Given the description of an element on the screen output the (x, y) to click on. 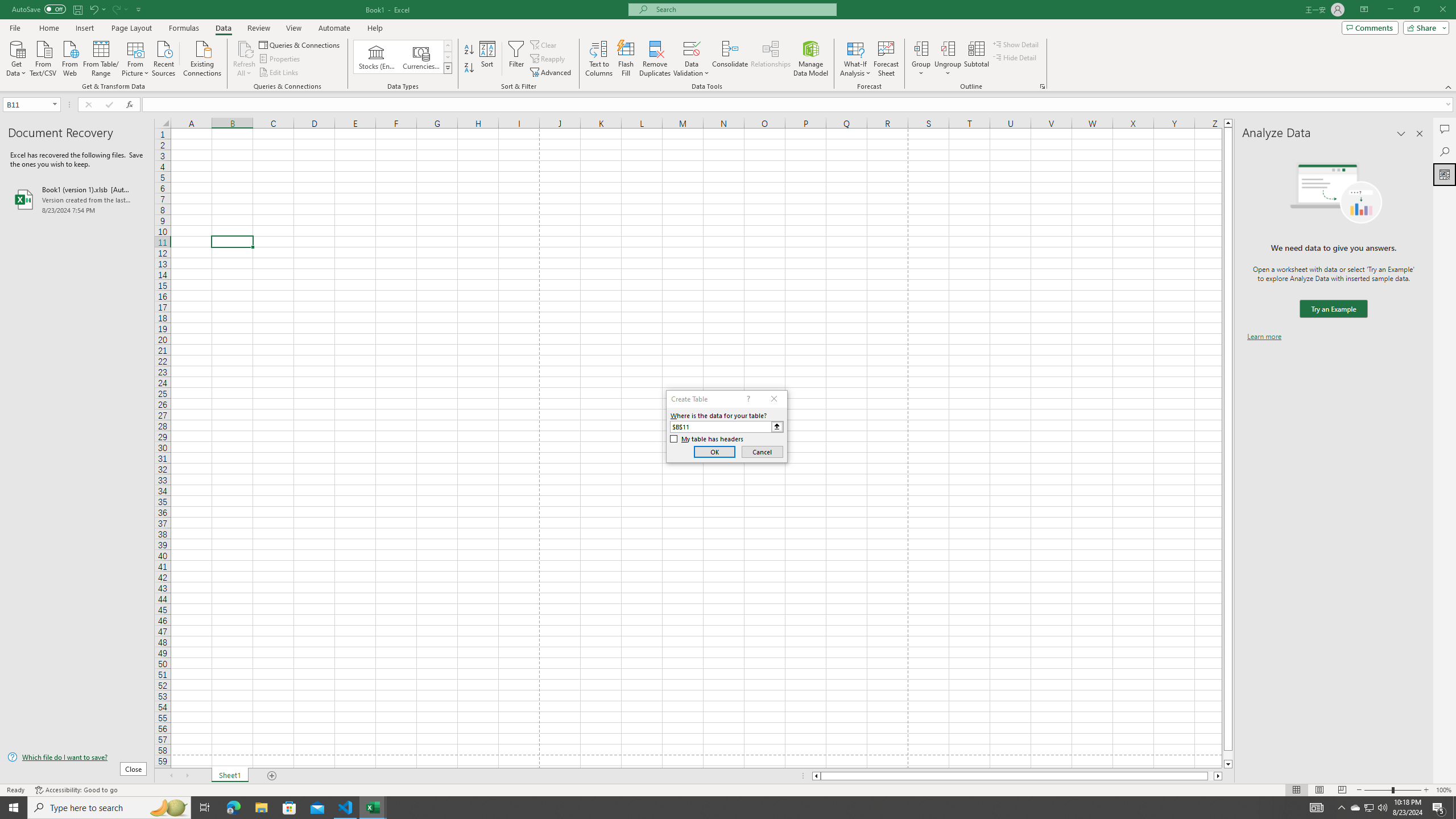
From Table/Range (100, 57)
What-If Analysis (855, 58)
Get Data (16, 57)
Sort A to Z (469, 49)
Forecast Sheet (885, 58)
Properties (280, 58)
Consolidate... (729, 58)
